Given the description of an element on the screen output the (x, y) to click on. 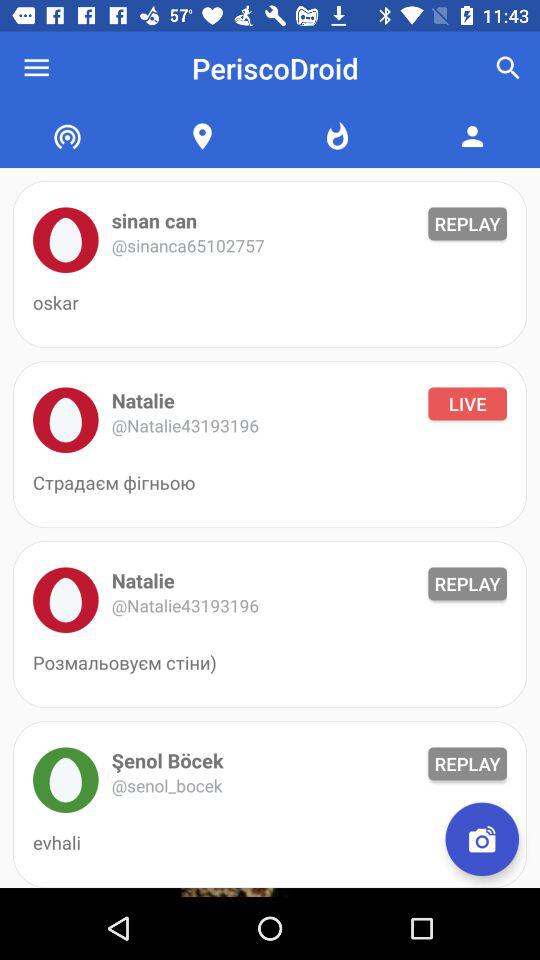
open the item next to the periscodroid icon (36, 68)
